Given the description of an element on the screen output the (x, y) to click on. 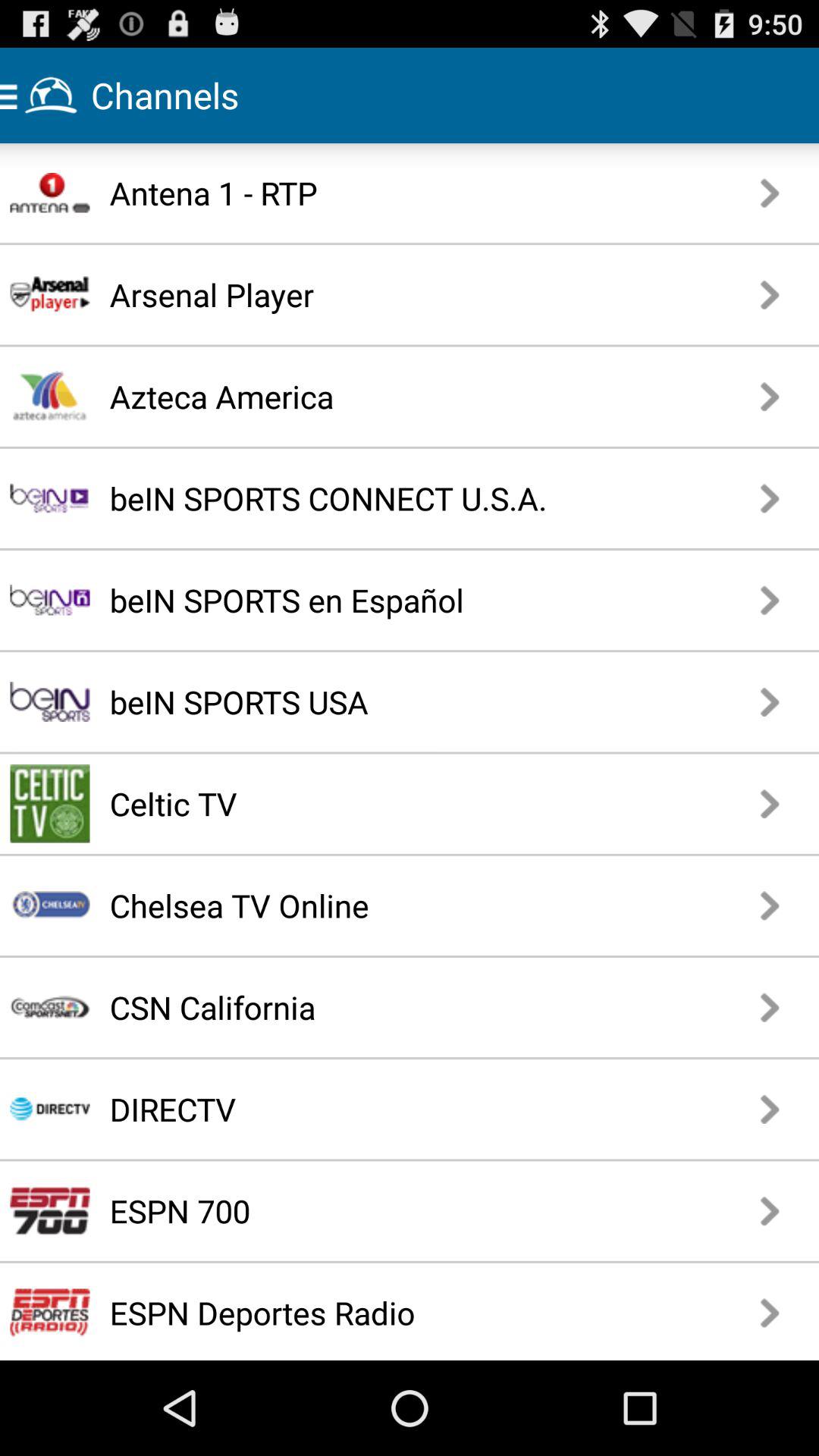
tap the icon above the espn 700 icon (355, 1108)
